Given the description of an element on the screen output the (x, y) to click on. 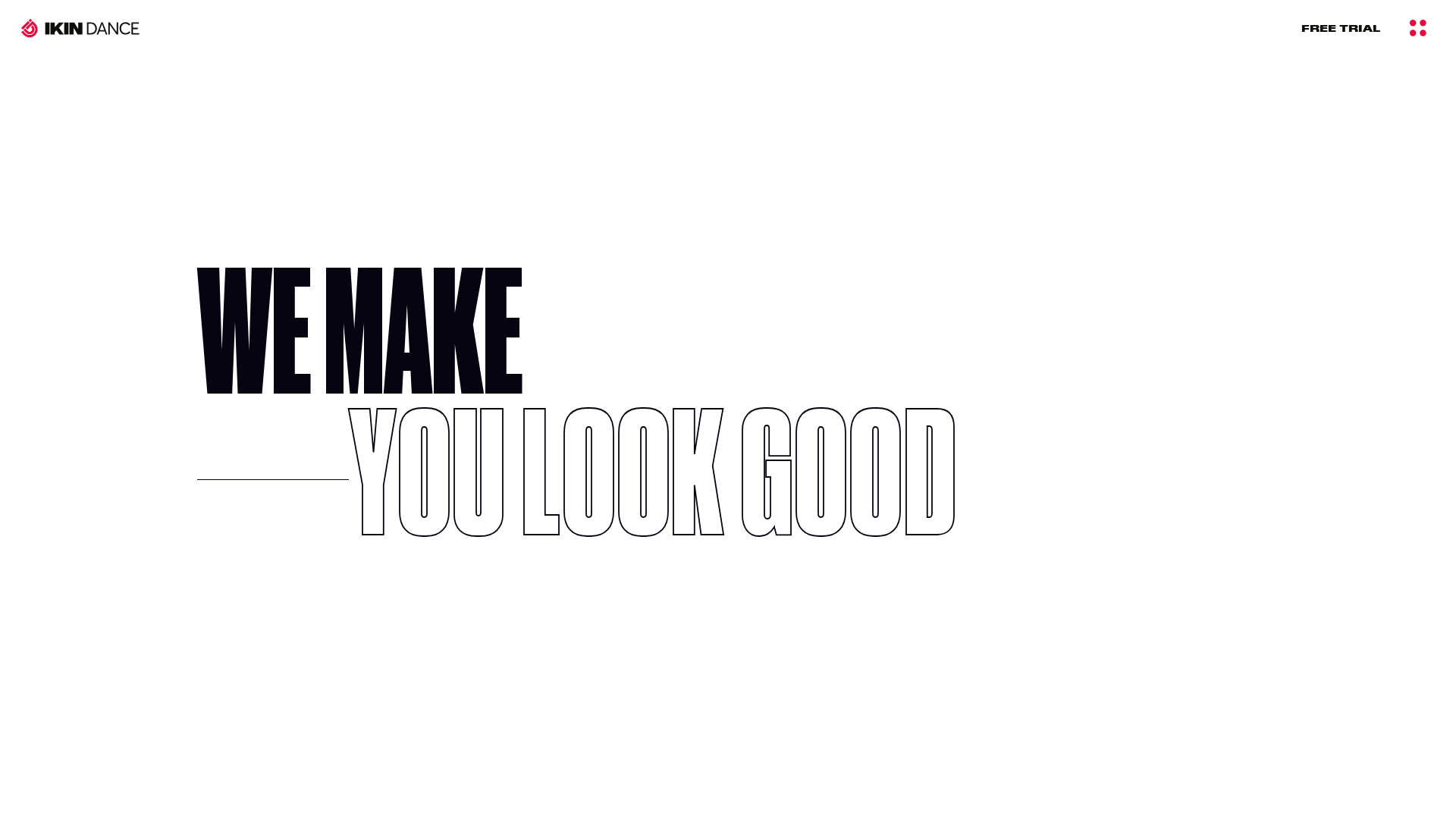
FREE TRIAL Element type: text (1340, 27)
